Given the description of an element on the screen output the (x, y) to click on. 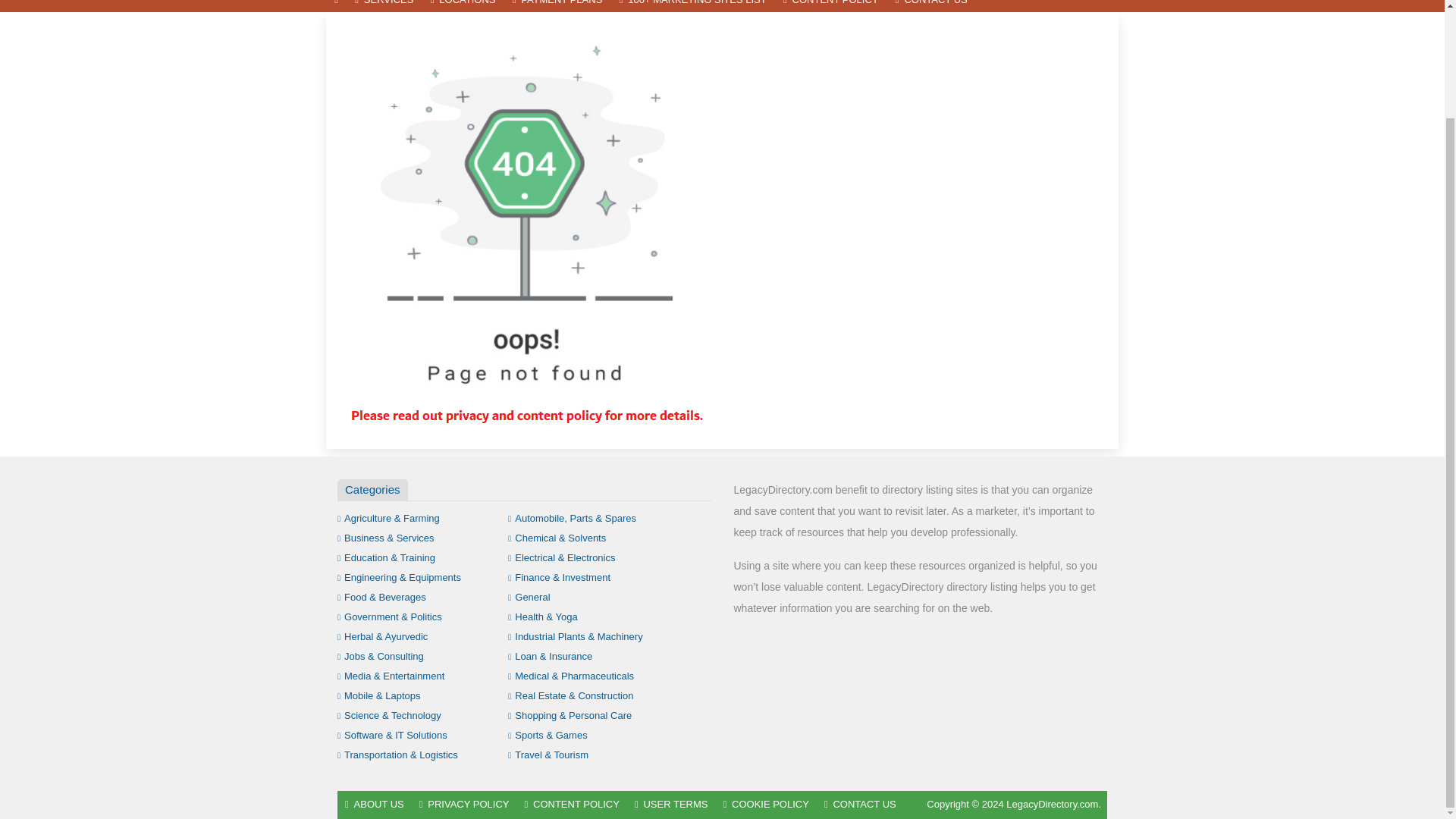
LOCATIONS (462, 6)
PAYMENT PLANS (557, 6)
SERVICES (384, 6)
CONTACT US (930, 6)
HOME (336, 6)
General (529, 596)
CONTENT POLICY (830, 6)
